Given the description of an element on the screen output the (x, y) to click on. 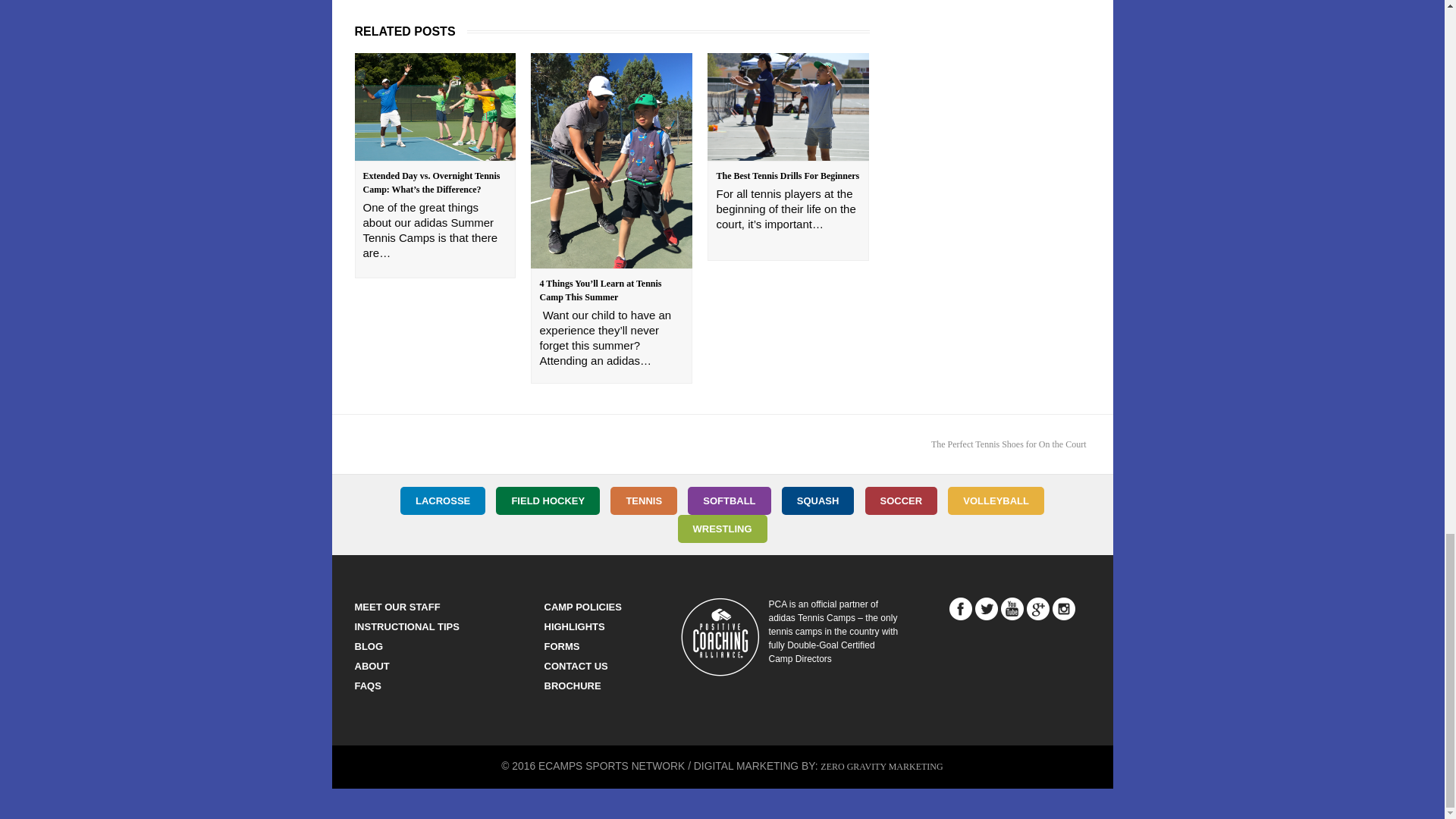
The Best Tennis Drills For Beginners (788, 106)
The Best Tennis Drills For Beginners (787, 175)
